Given the description of an element on the screen output the (x, y) to click on. 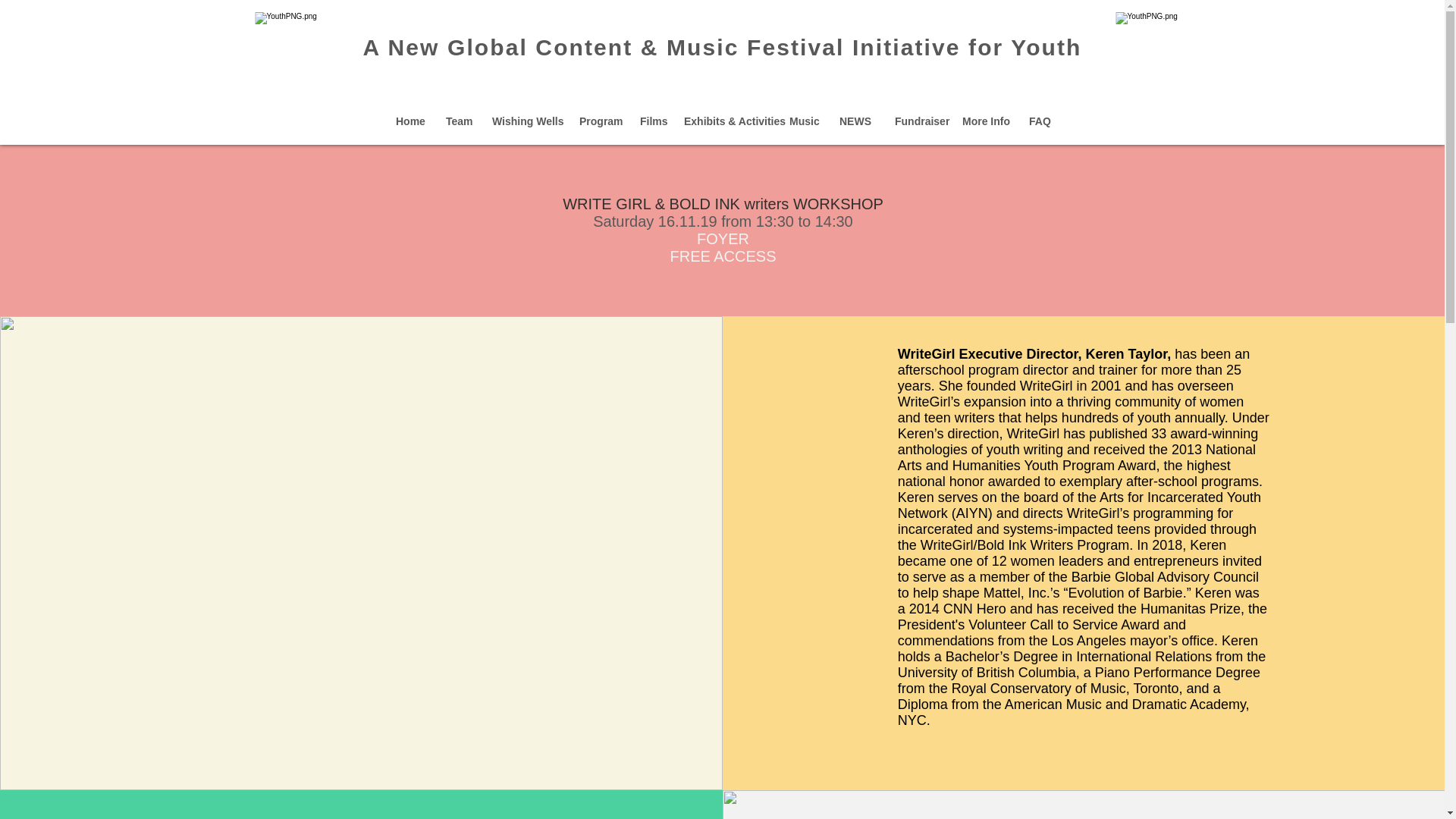
Home (408, 121)
